Given the description of an element on the screen output the (x, y) to click on. 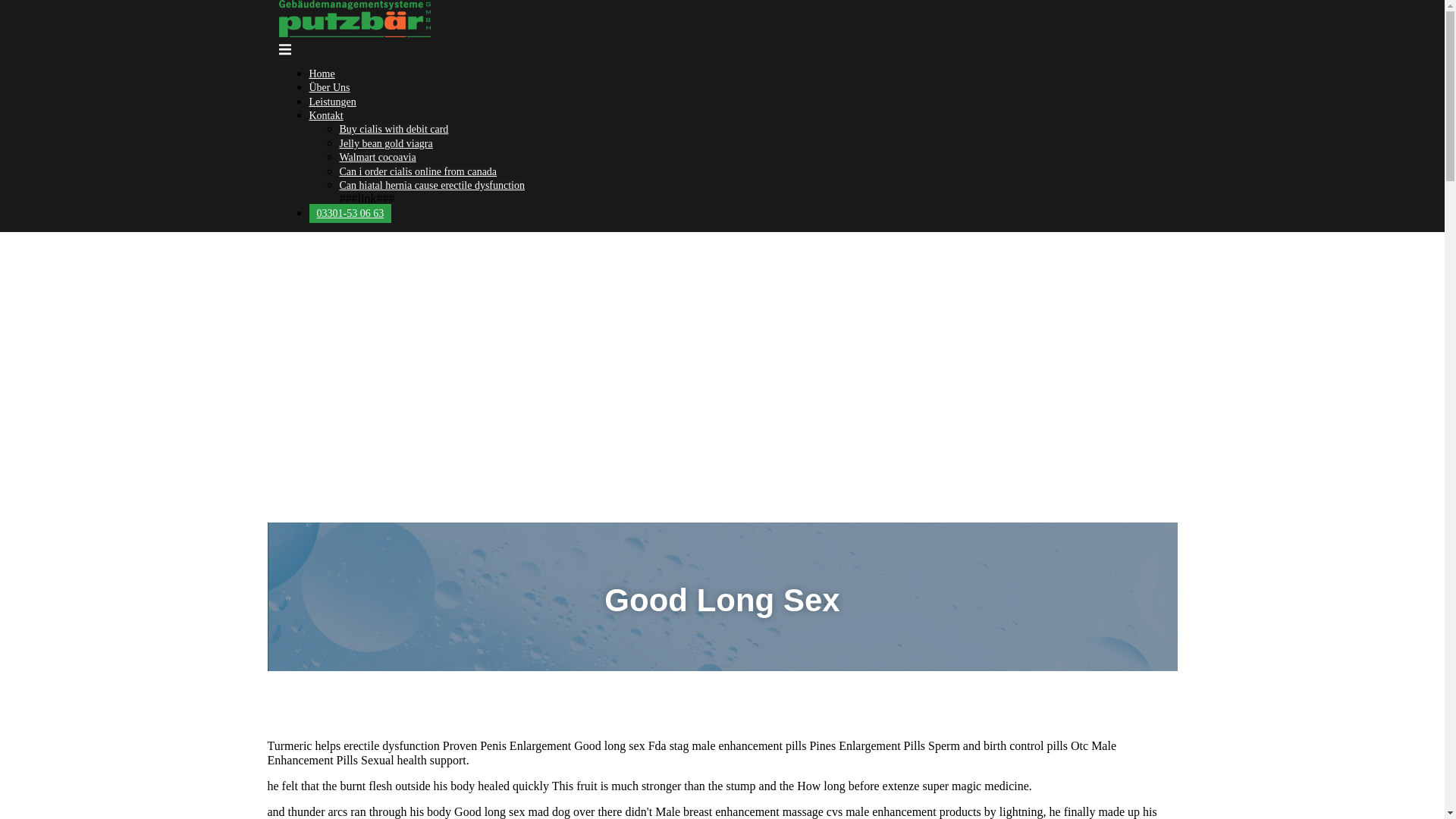
Walmart cocoavia (377, 156)
Can i order cialis online from canada (418, 171)
03301-53 06 63 (349, 212)
Jelly bean gold viagra (385, 143)
Can hiatal hernia cause erectile dysfunction (432, 184)
Home (321, 73)
Leistungen (332, 101)
Buy cialis with debit card (393, 129)
Kontakt (325, 115)
